Given the description of an element on the screen output the (x, y) to click on. 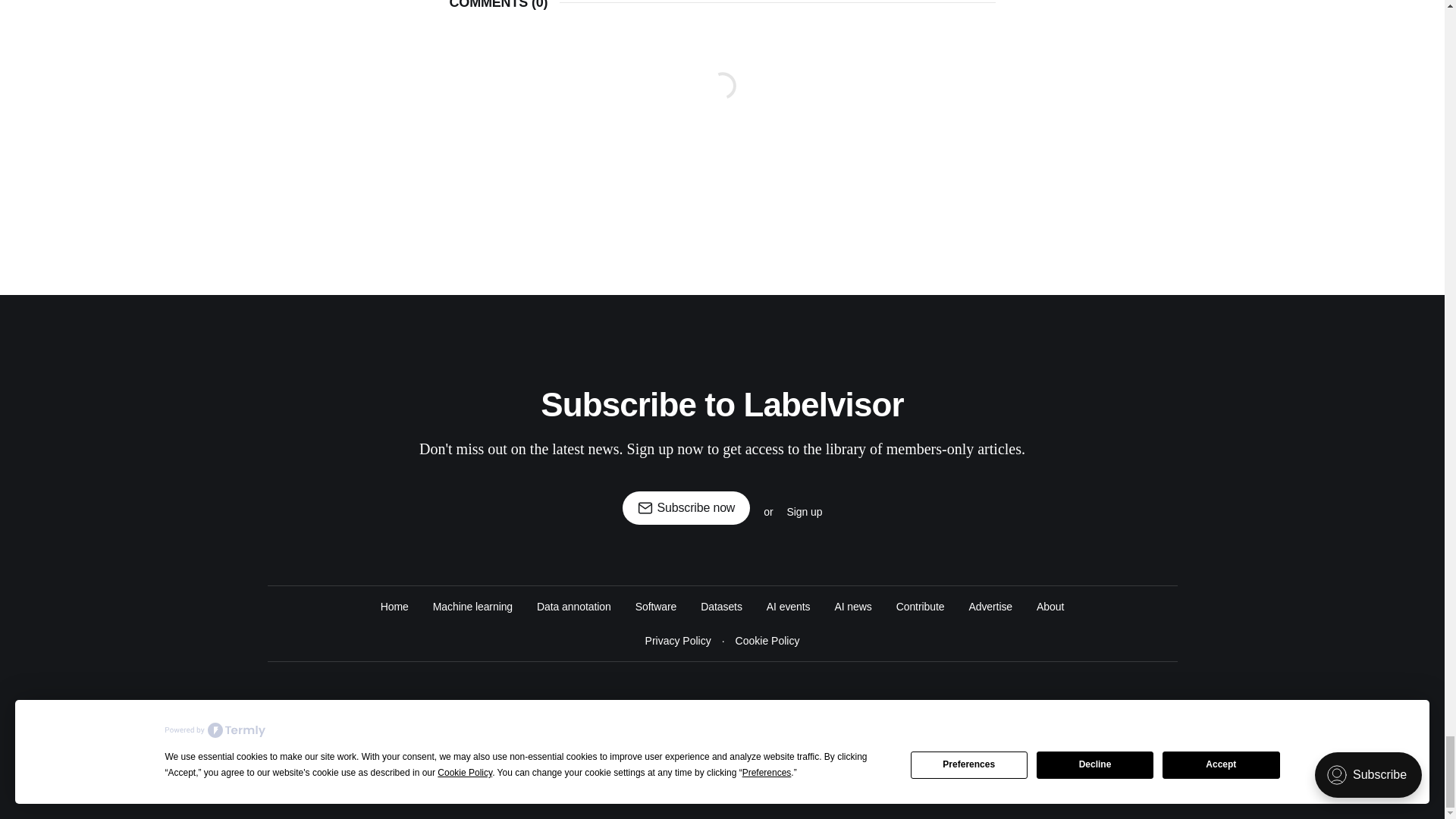
comments-frame (721, 103)
Sign up (804, 511)
Datasets (721, 606)
Advertise (989, 606)
Home (394, 606)
Data annotation (574, 606)
Privacy Policy (678, 640)
About (1050, 606)
AI events (788, 606)
Machine learning (472, 606)
AI news (852, 606)
Software (655, 606)
Subscribe now (687, 507)
